Given the description of an element on the screen output the (x, y) to click on. 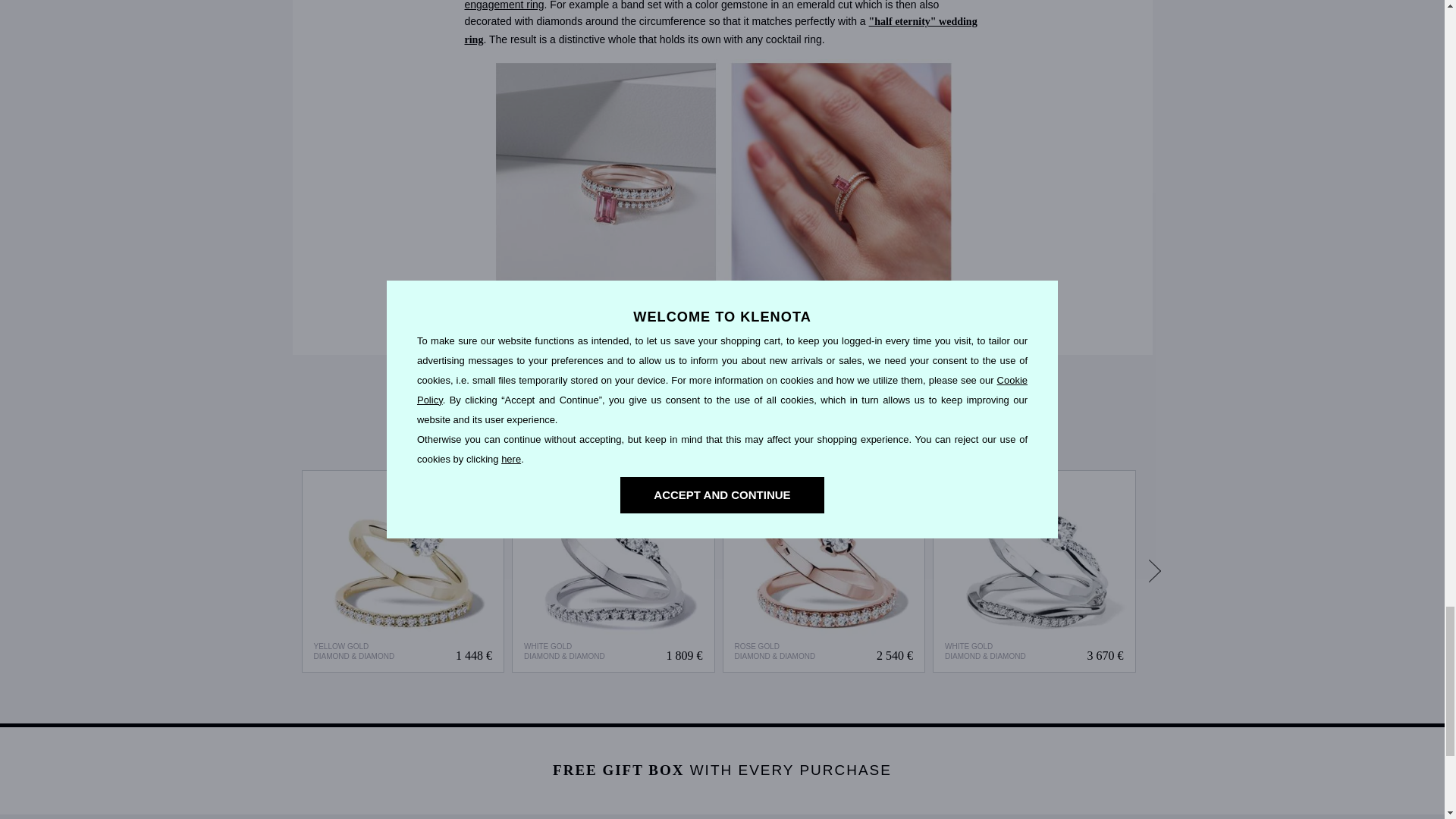
Modern Engagement Set of White Gold with Diamonds (1034, 571)
Diamond Engagement Ring Set in Yellow Gold (402, 571)
White Gold Engagement and Wedding Ring Set (613, 571)
Diamond Engagement Ring Set in Yellow Gold (403, 571)
White Gold Engagement and Wedding Ring Set (613, 571)
Diamond Engagement and Wedding Ring Set in Rose Gold (823, 571)
Modern Engagement Set of White Gold with Diamonds (1034, 571)
Diamond Engagement and Wedding Ring Set in Rose Gold (823, 571)
